Given the description of an element on the screen output the (x, y) to click on. 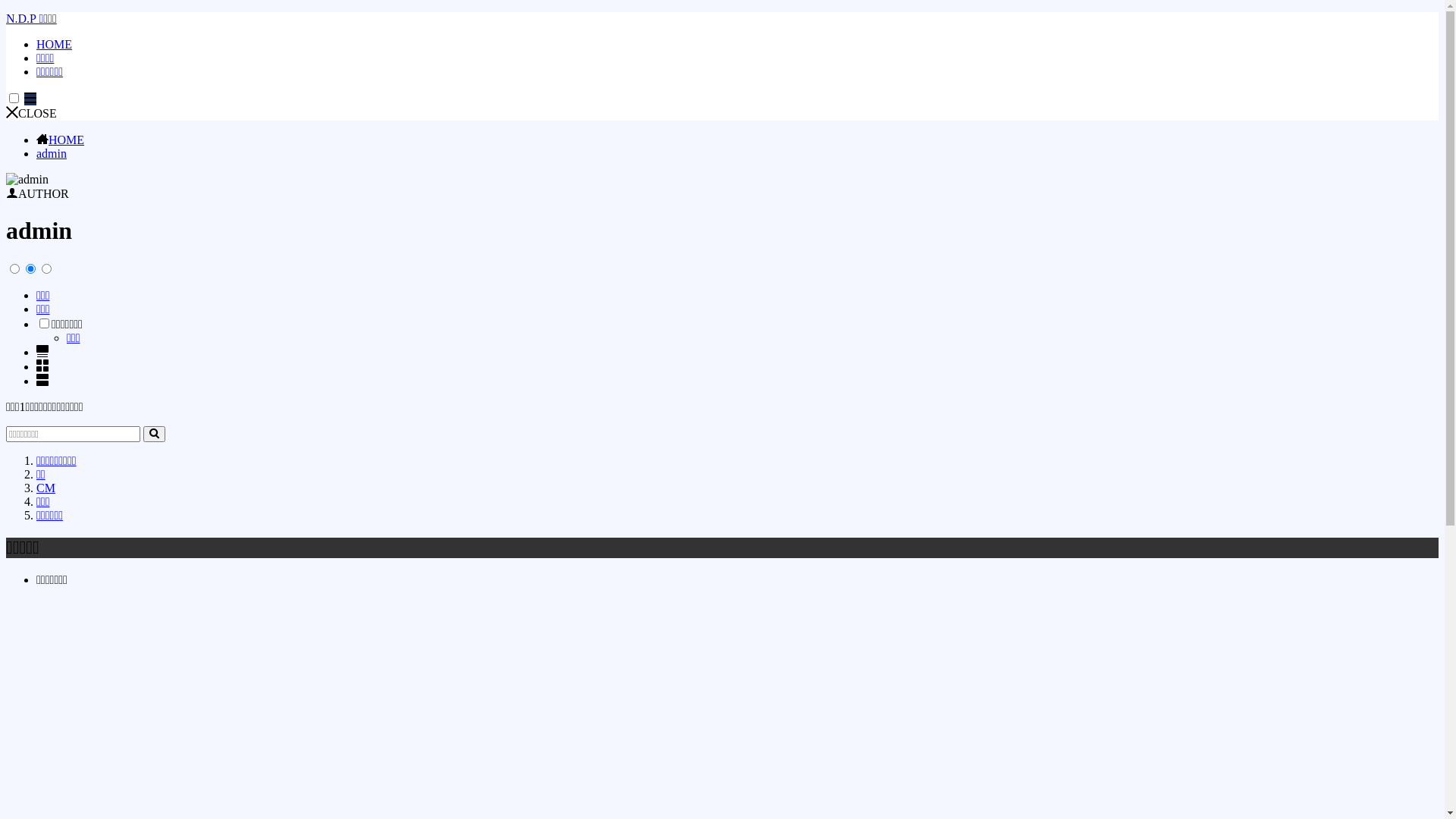
HOME Element type: text (54, 43)
HOME Element type: text (66, 139)
admin Element type: text (51, 153)
search Element type: text (154, 434)
CM Element type: text (45, 487)
